Given the description of an element on the screen output the (x, y) to click on. 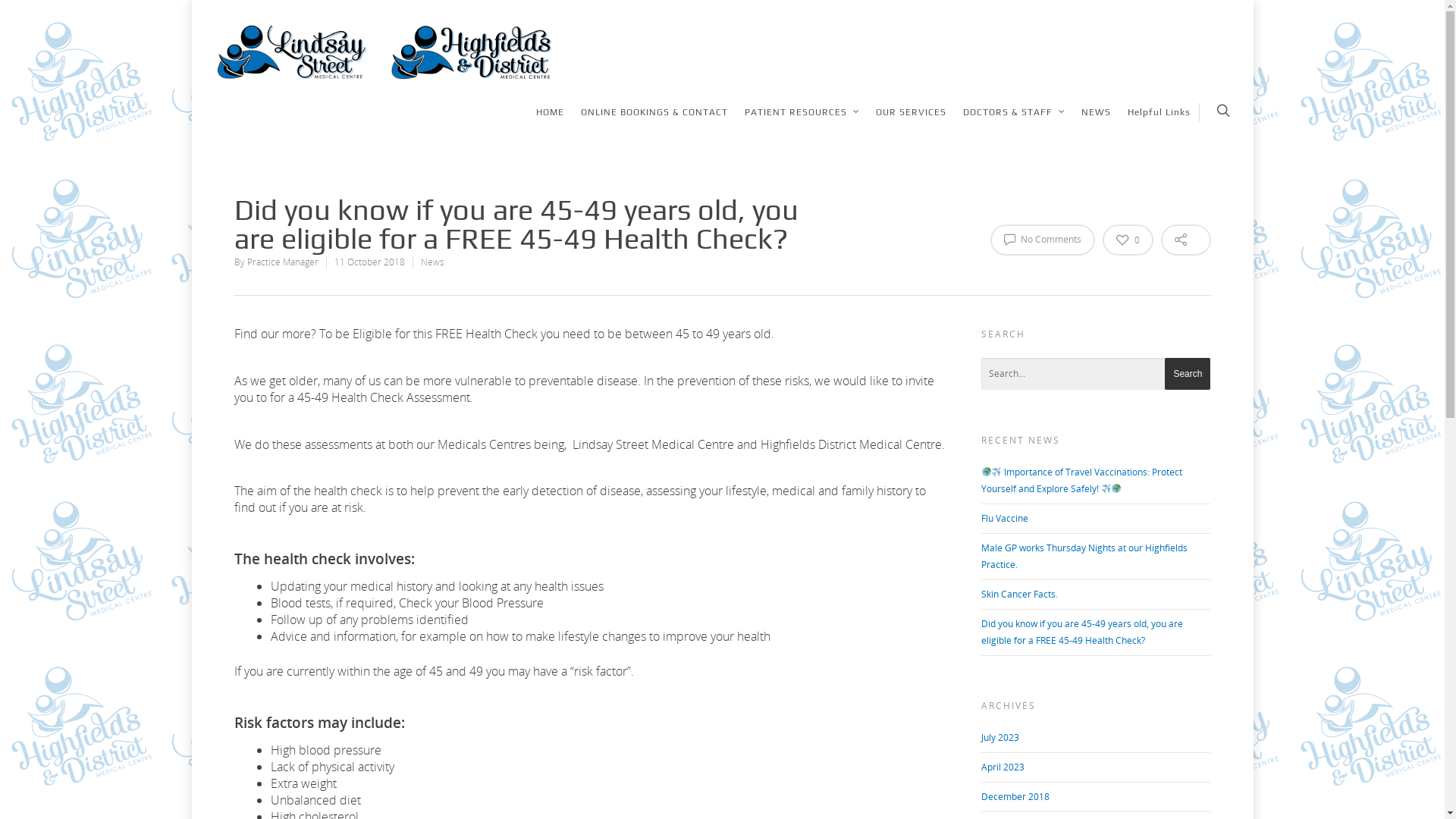
April 2023 Element type: text (1002, 766)
Male GP works Thursday Nights at our Highfields Practice. Element type: text (1084, 556)
ONLINE BOOKINGS & CONTACT Element type: text (654, 122)
Skin Cancer Facts. Element type: text (1019, 593)
OUR SERVICES Element type: text (910, 122)
NEWS Element type: text (1095, 122)
Practice Manager Element type: text (282, 261)
Search Element type: text (1187, 373)
HOME Element type: text (549, 122)
PATIENT RESOURCES Element type: text (801, 122)
DOCTORS & STAFF Element type: text (1013, 122)
0 Element type: text (1127, 239)
News Element type: text (431, 261)
Helpful Links Element type: text (1158, 122)
No Comments Element type: text (1042, 239)
December 2018 Element type: text (1015, 796)
Flu Vaccine Element type: text (1004, 517)
Search for: Element type: hover (1096, 373)
July 2023 Element type: text (1000, 737)
